Given the description of an element on the screen output the (x, y) to click on. 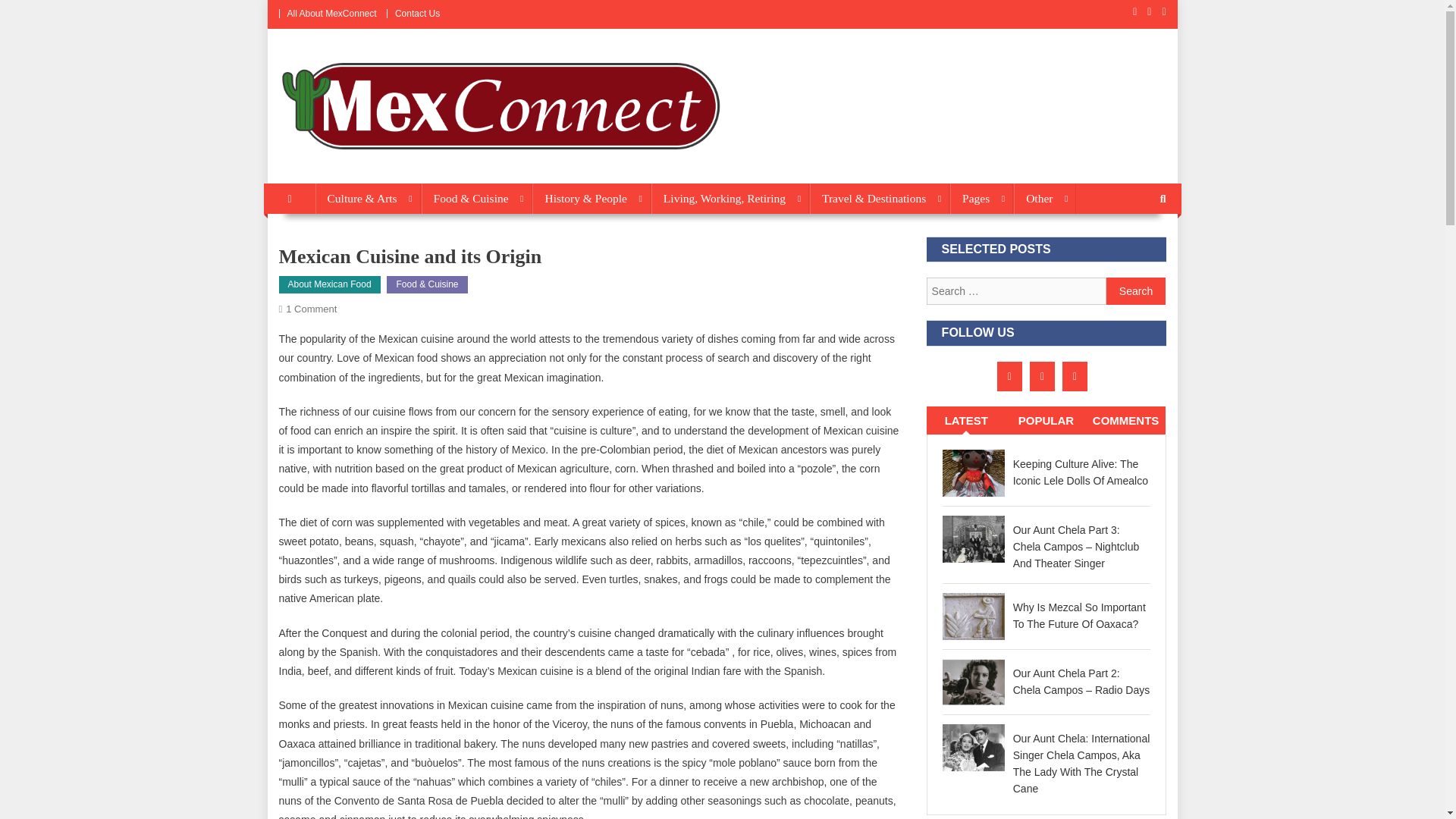
Search (1136, 290)
MexConnect (344, 167)
Search (1136, 290)
Living, Working, Retiring (729, 198)
Contact Us (416, 13)
All About MexConnect (330, 13)
